Given the description of an element on the screen output the (x, y) to click on. 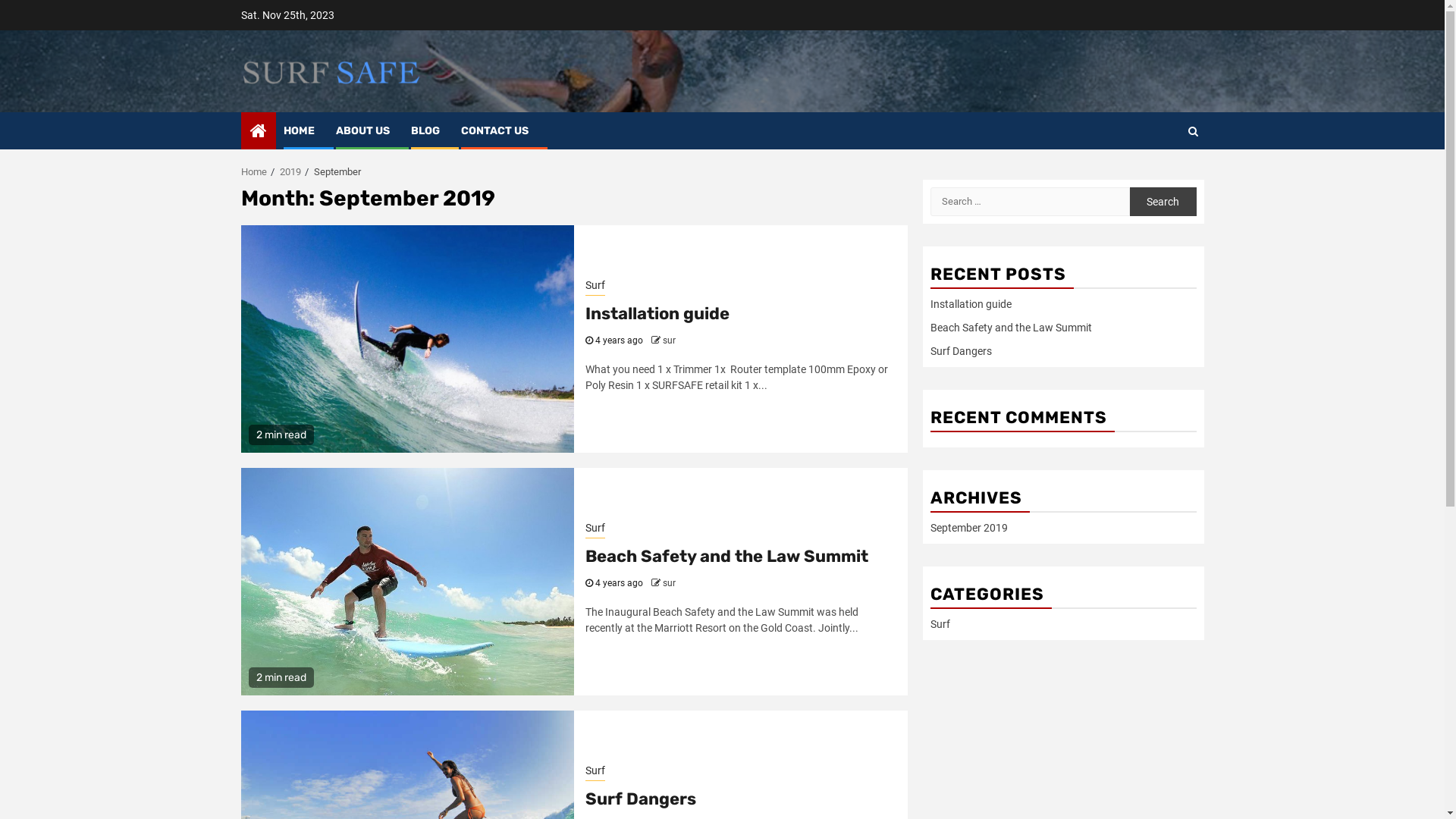
sur Element type: text (668, 340)
BLOG Element type: text (425, 130)
Surf Element type: text (595, 529)
Surf Dangers Element type: text (960, 351)
HOME Element type: text (298, 130)
Surf Element type: text (595, 771)
Search Element type: hover (1192, 130)
Home Element type: text (253, 171)
Surf Element type: text (595, 286)
September 2019 Element type: text (968, 527)
Search Element type: text (1162, 200)
Installation guide Element type: text (969, 304)
Surf Dangers Element type: text (640, 798)
Beach Safety and the Law Summit Element type: text (1010, 327)
Installation guide Element type: text (657, 313)
2019 Element type: text (289, 171)
sur Element type: text (668, 582)
Surf Element type: text (939, 624)
ABOUT US Element type: text (362, 130)
Search Element type: text (1163, 176)
Beach Safety and the Law Summit Element type: text (726, 556)
CONTACT US Element type: text (494, 130)
